Given the description of an element on the screen output the (x, y) to click on. 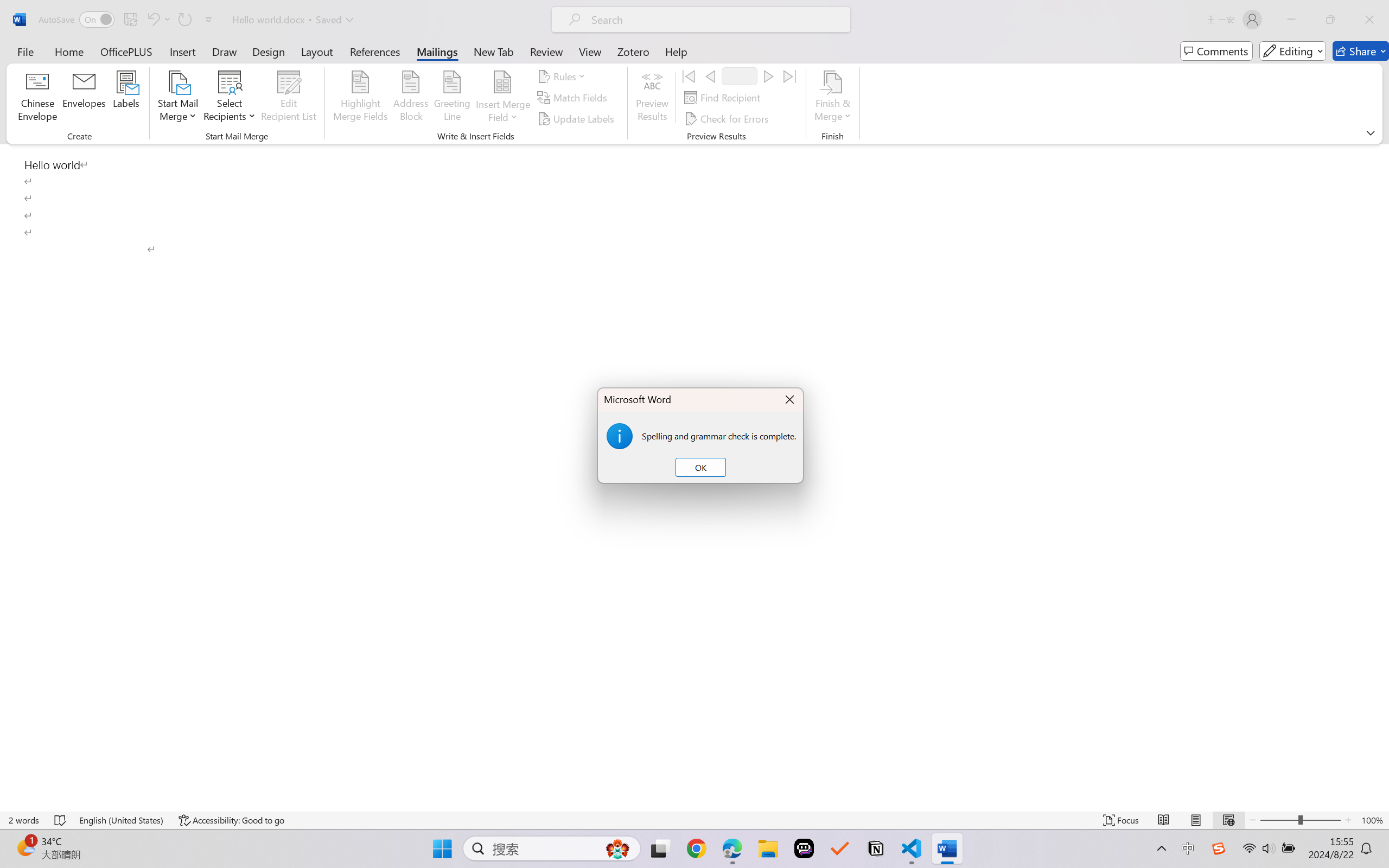
File Tab (24, 51)
Zoom 100% (1372, 819)
Web Layout (1228, 819)
Home (69, 51)
New Tab (493, 51)
Share (1360, 51)
Address Block... (410, 97)
Class: NetUIScrollBar (1382, 477)
Layout (316, 51)
